Given the description of an element on the screen output the (x, y) to click on. 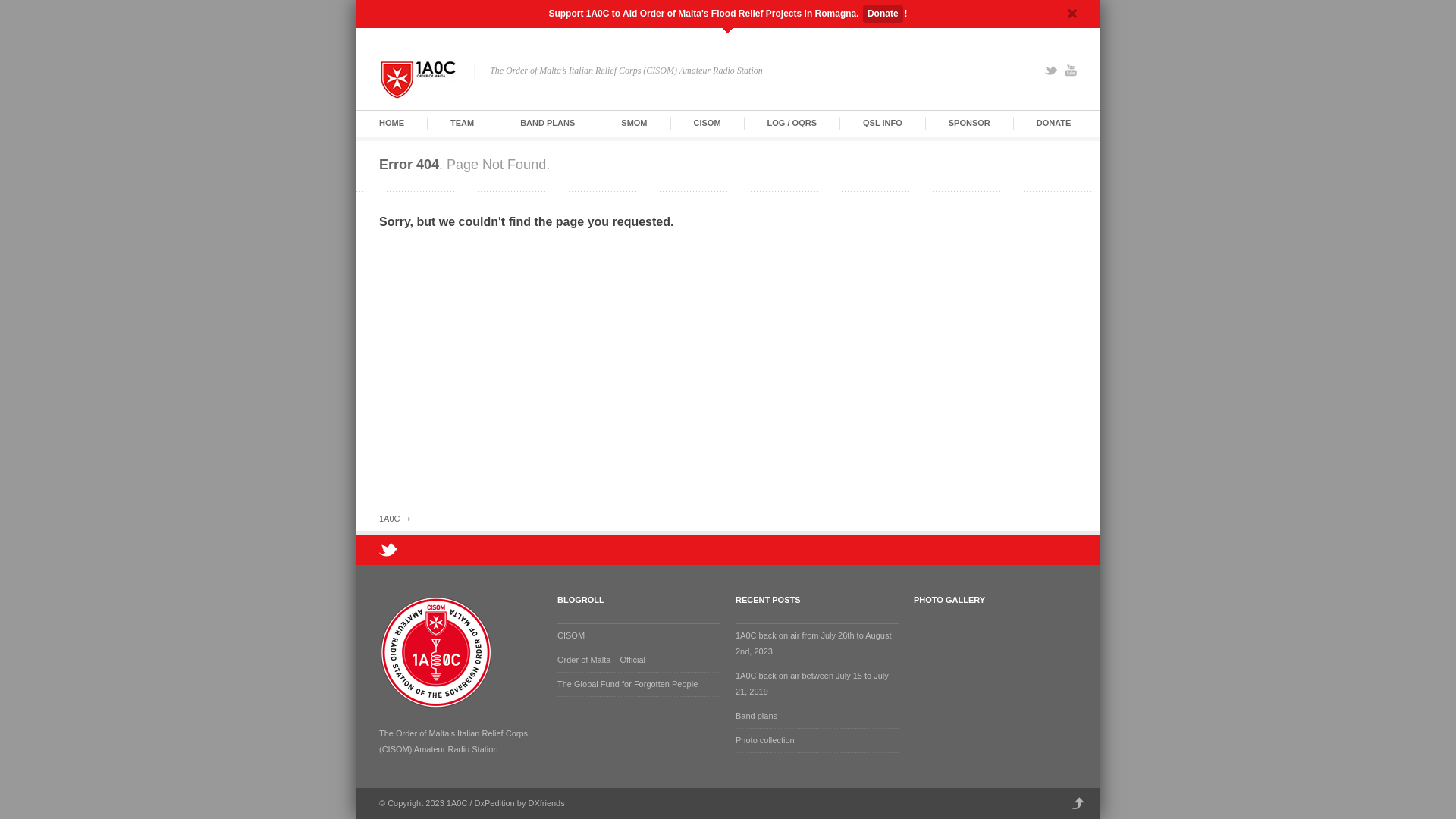
DONATE Element type: text (1053, 122)
QSL INFO Element type: text (882, 122)
TEAM Element type: text (461, 122)
CISOM Element type: text (707, 122)
The Global Fund for Forgotten People Element type: text (627, 683)
SPONSOR Element type: text (969, 122)
1A0C back on air between July 15 to July 21, 2019 Element type: text (811, 683)
HOME Element type: text (391, 122)
LOG / OQRS Element type: text (791, 122)
DXfriends Element type: text (545, 803)
YouTube Element type: text (1070, 70)
BAND PLANS Element type: text (547, 122)
1A0C back on air from July 26th to August 2nd, 2023 Element type: text (813, 642)
Donate Element type: text (882, 13)
SMOM Element type: text (633, 122)
Twitter Element type: text (1050, 70)
Band plans Element type: text (756, 715)
1A0C Element type: text (394, 518)
CISOM Element type: text (570, 635)
Photo collection Element type: text (764, 739)
